Given the description of an element on the screen output the (x, y) to click on. 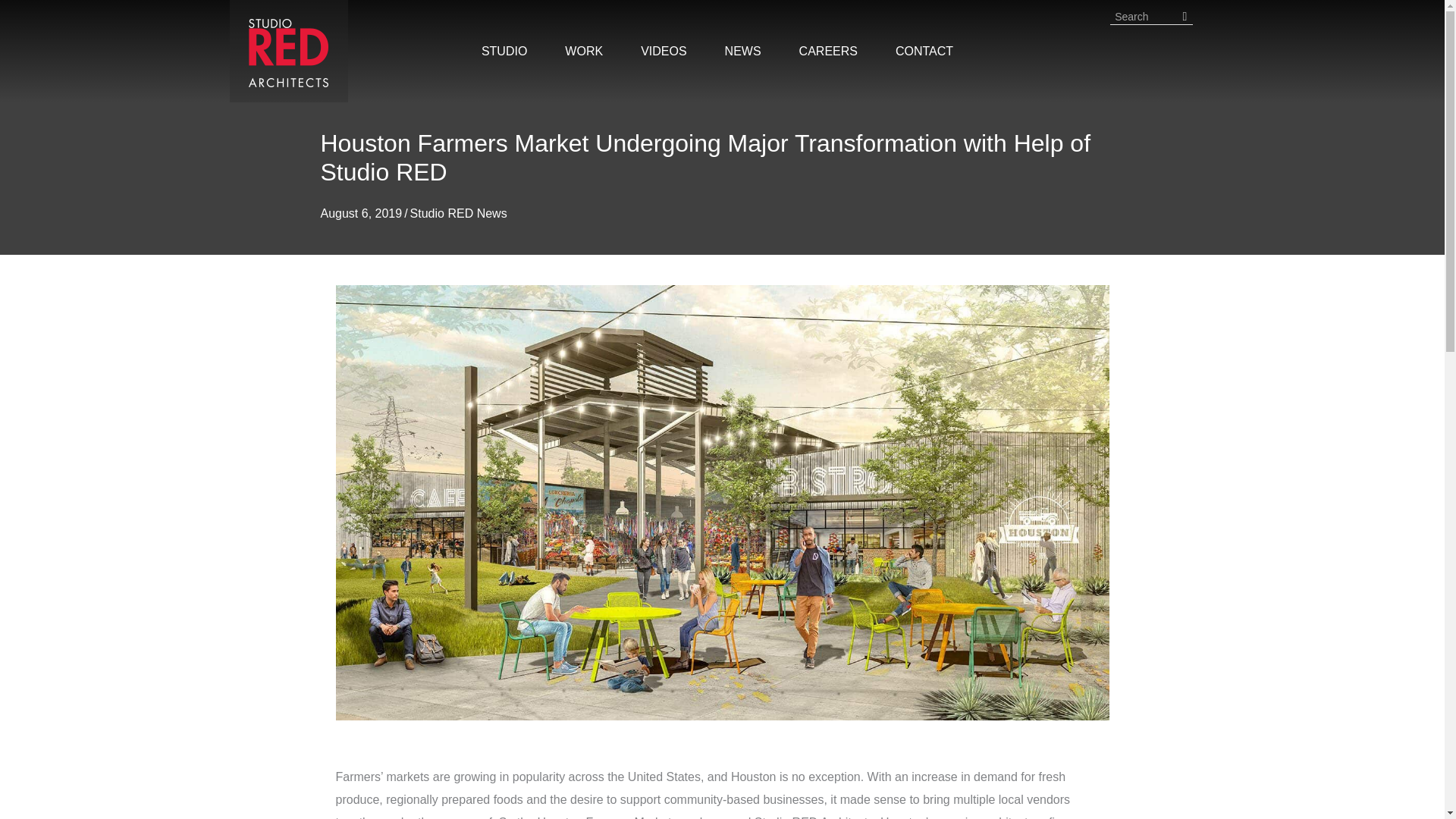
CONTACT (924, 51)
STUDIO (504, 51)
WORK (583, 51)
StudioREDlogoWHITEHeader (288, 52)
NEWS (742, 51)
Studio RED News (458, 213)
CAREERS (828, 51)
VIDEOS (663, 51)
Search (1143, 16)
